Given the description of an element on the screen output the (x, y) to click on. 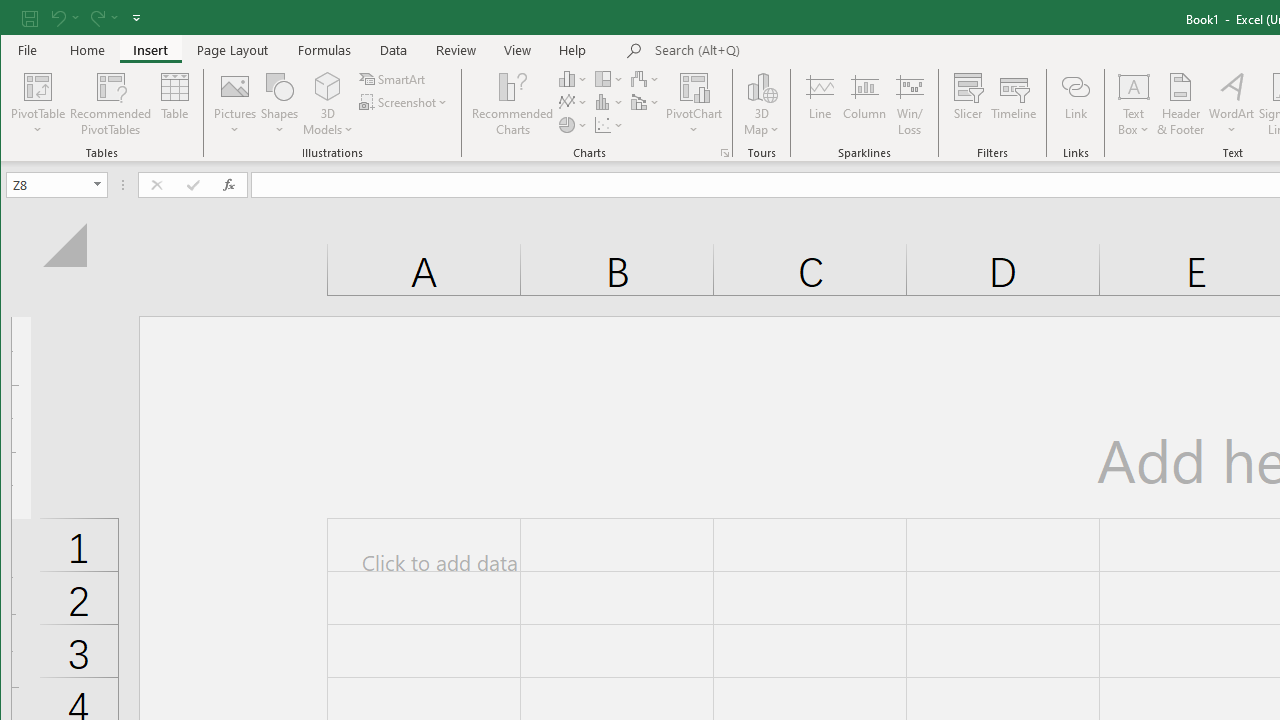
Pictures (235, 104)
Insert Line or Area Chart (573, 101)
Insert Combo Chart (646, 101)
Column (864, 104)
Recommended Charts (724, 152)
3D Map (762, 86)
PivotTable (37, 104)
Table (174, 104)
3D Map (762, 104)
Recommended PivotTables (110, 104)
